Given the description of an element on the screen output the (x, y) to click on. 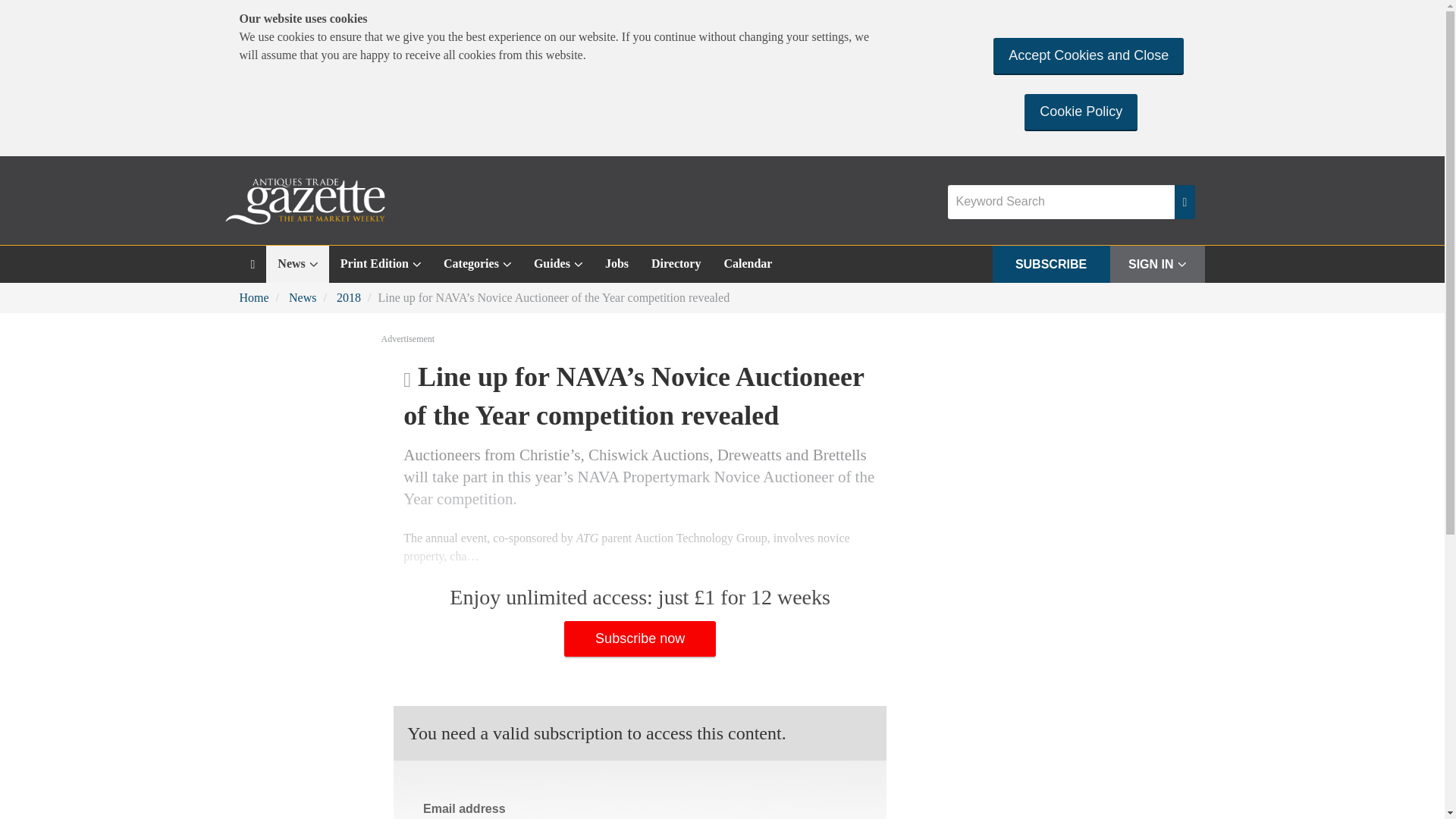
Cookie Policy (1081, 111)
Keyword Search (1060, 202)
News (297, 263)
